Given the description of an element on the screen output the (x, y) to click on. 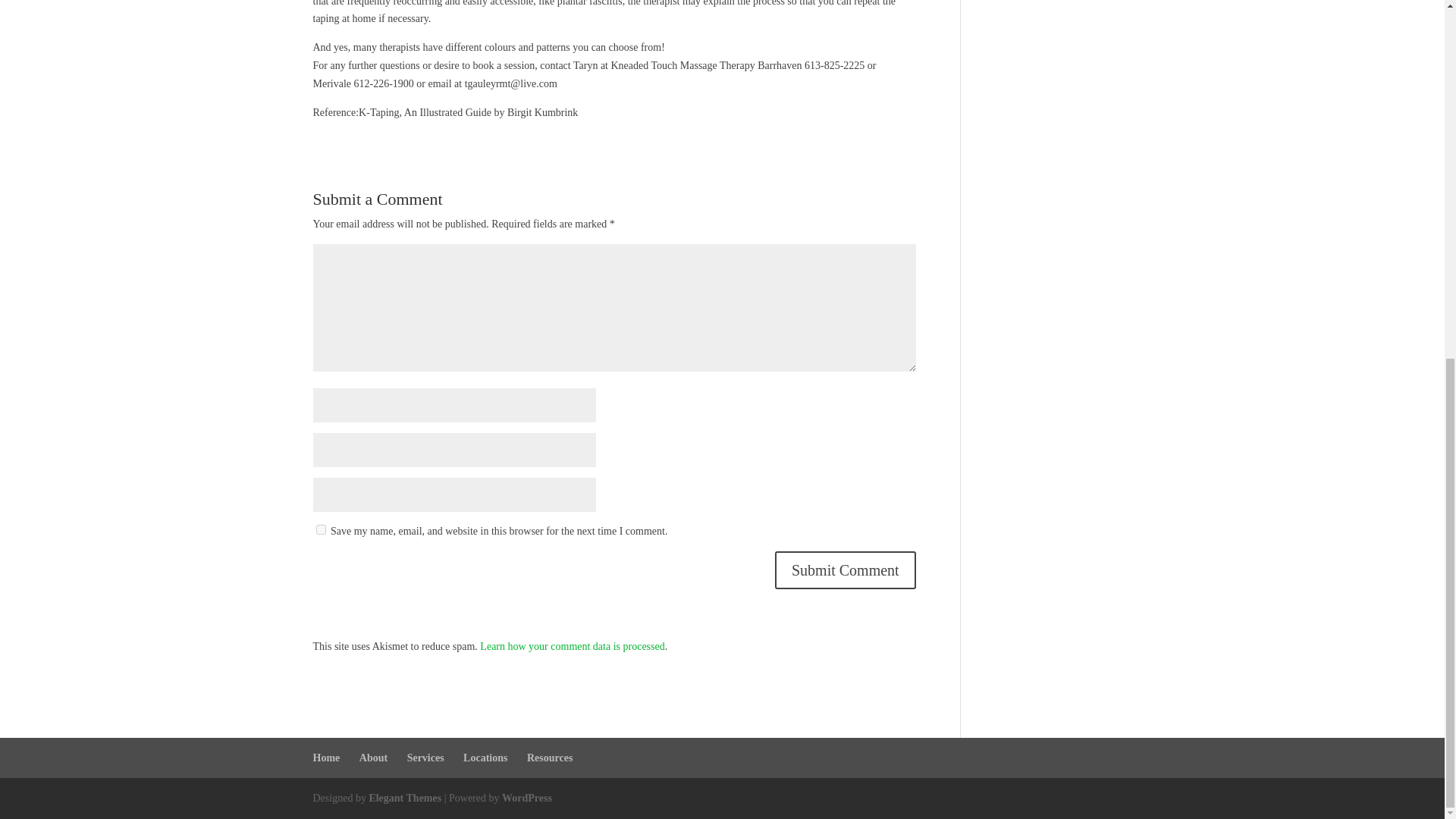
yes (319, 529)
Premium WordPress Themes (404, 797)
Submit Comment (844, 569)
